Given the description of an element on the screen output the (x, y) to click on. 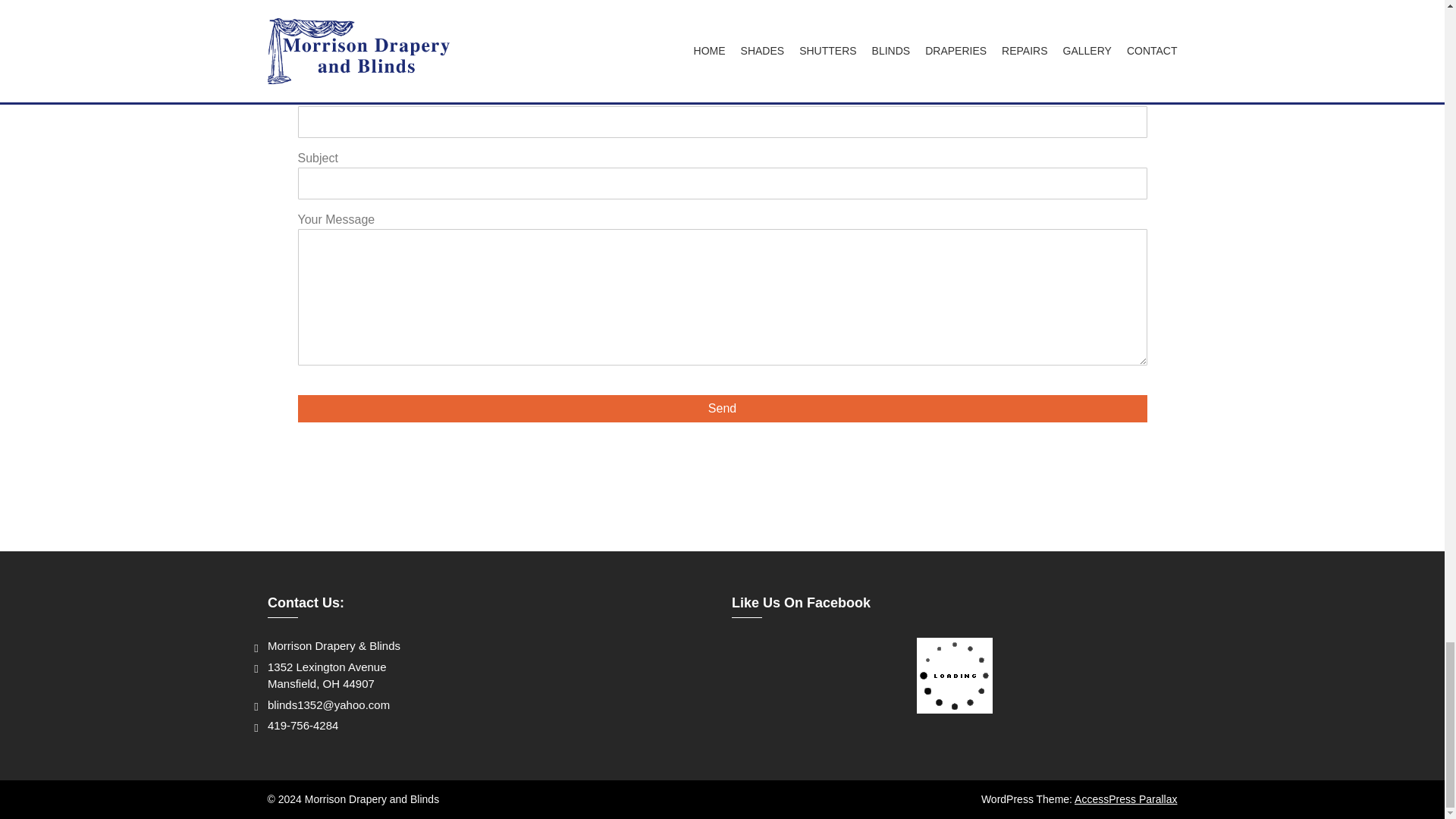
WordPress Free Themes (1125, 799)
AccessPress Parallax (1125, 799)
Send (722, 408)
Send (722, 408)
